Given the description of an element on the screen output the (x, y) to click on. 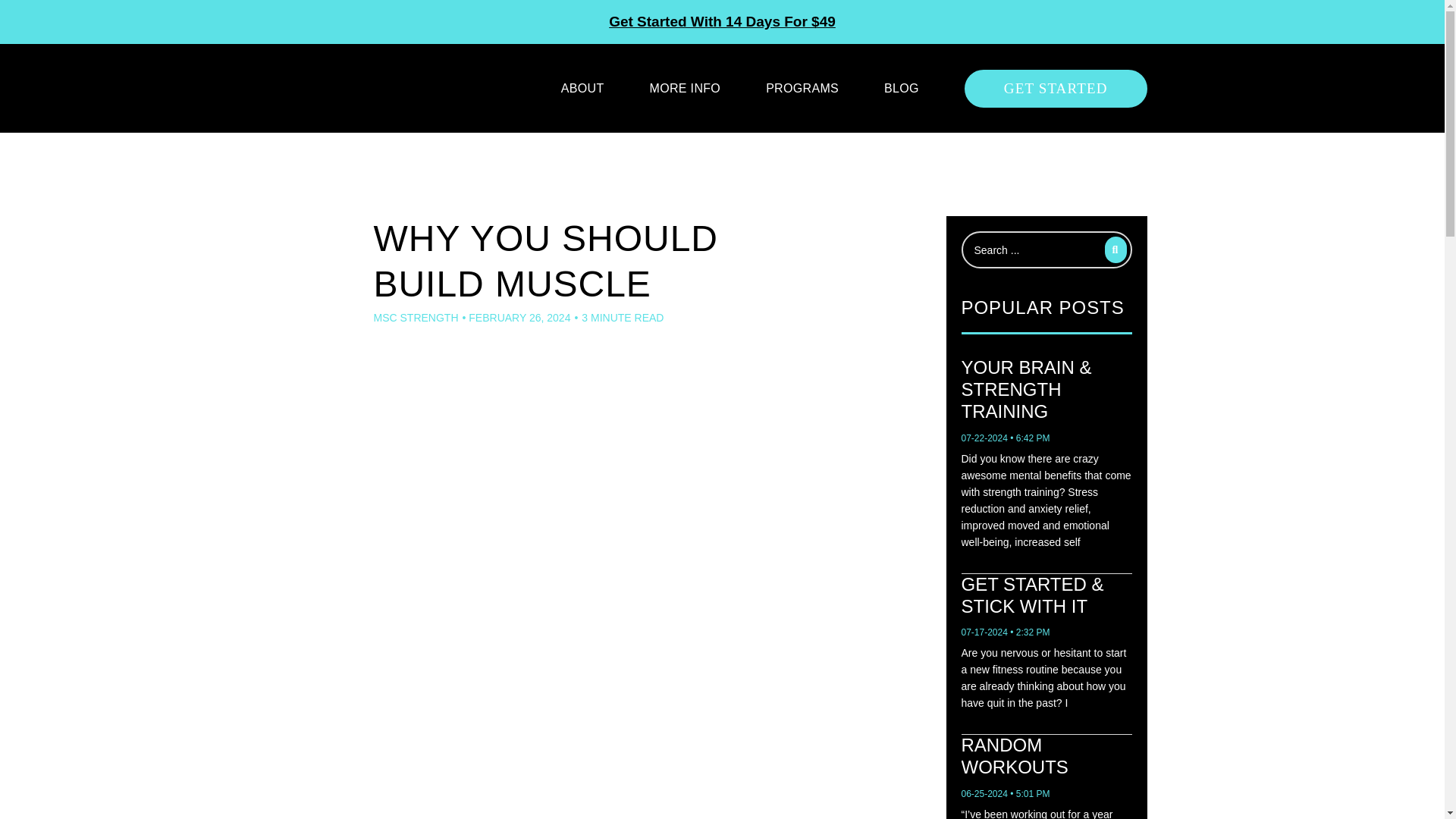
RANDOM WORKOUTS (1014, 755)
MORE INFO (684, 88)
ABOUT (582, 88)
PROGRAMS (801, 88)
GET STARTED (1055, 88)
BLOG (900, 88)
